Given the description of an element on the screen output the (x, y) to click on. 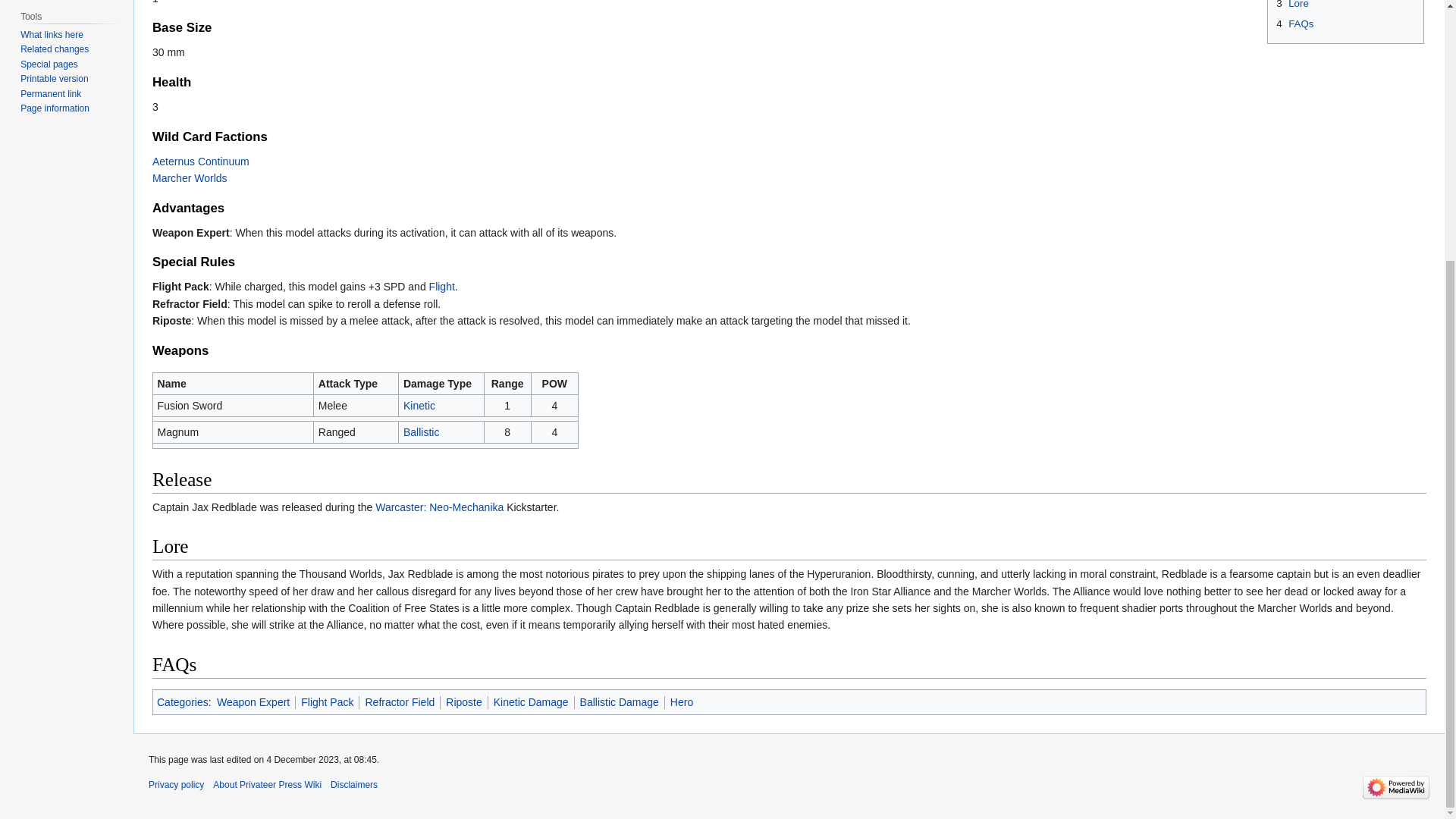
Category:Hero (681, 702)
Warcaster: Neo-Mechanika (439, 507)
Special:Categories (182, 702)
Category:Riposte (463, 702)
Ballistic (421, 431)
Category:Weapon Expert (252, 702)
Category:Refractor Field (399, 702)
Marcher Worlds (189, 177)
4 FAQs (1294, 23)
Category:Ballistic Damage (421, 431)
3 Lore (1292, 4)
Aeternus Continuum (200, 161)
Category:Ballistic Damage (619, 702)
Riposte (463, 702)
WNM Flight (441, 286)
